Given the description of an element on the screen output the (x, y) to click on. 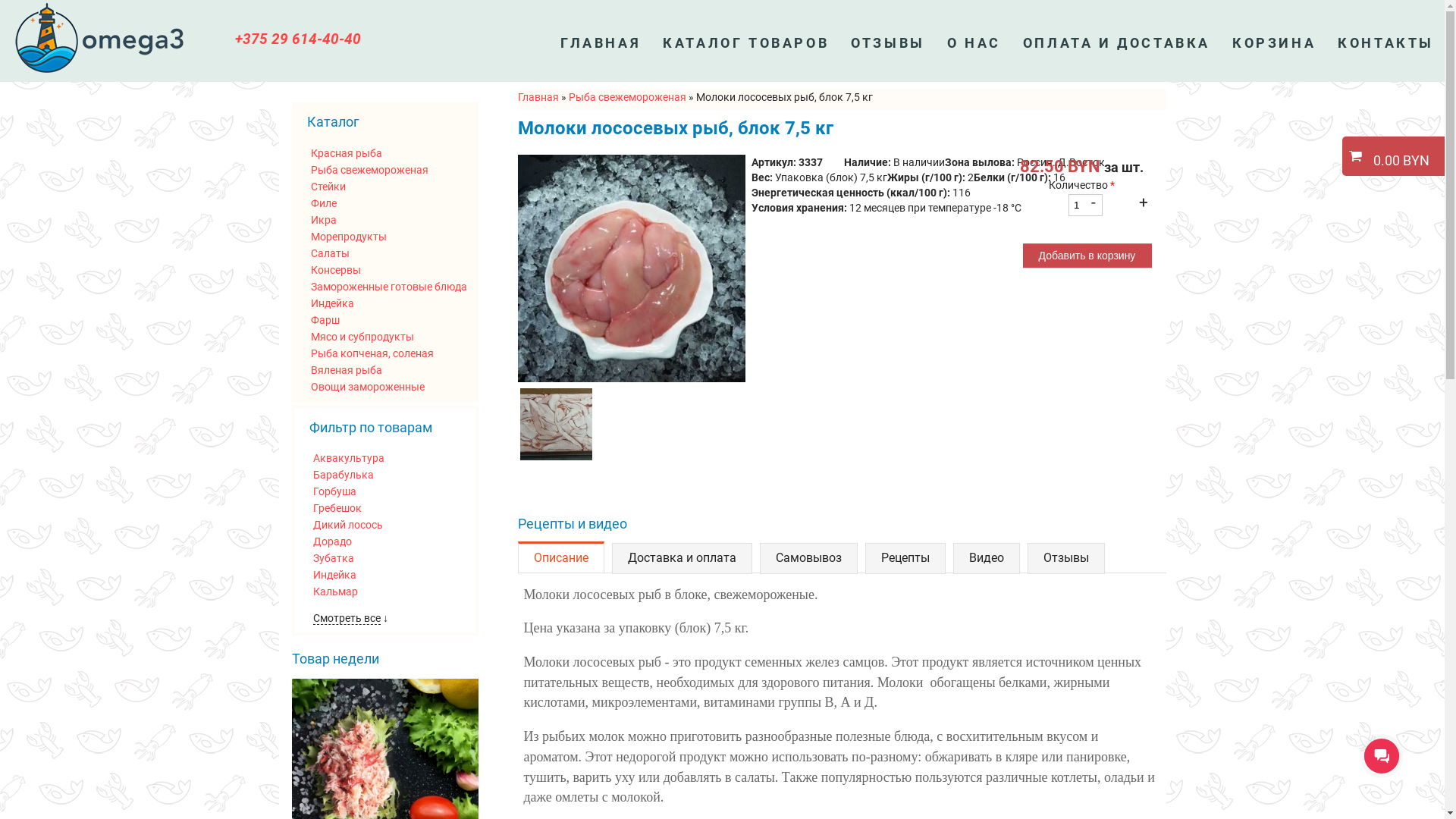
+375 29 614-40-40 Element type: text (297, 38)
